Given the description of an element on the screen output the (x, y) to click on. 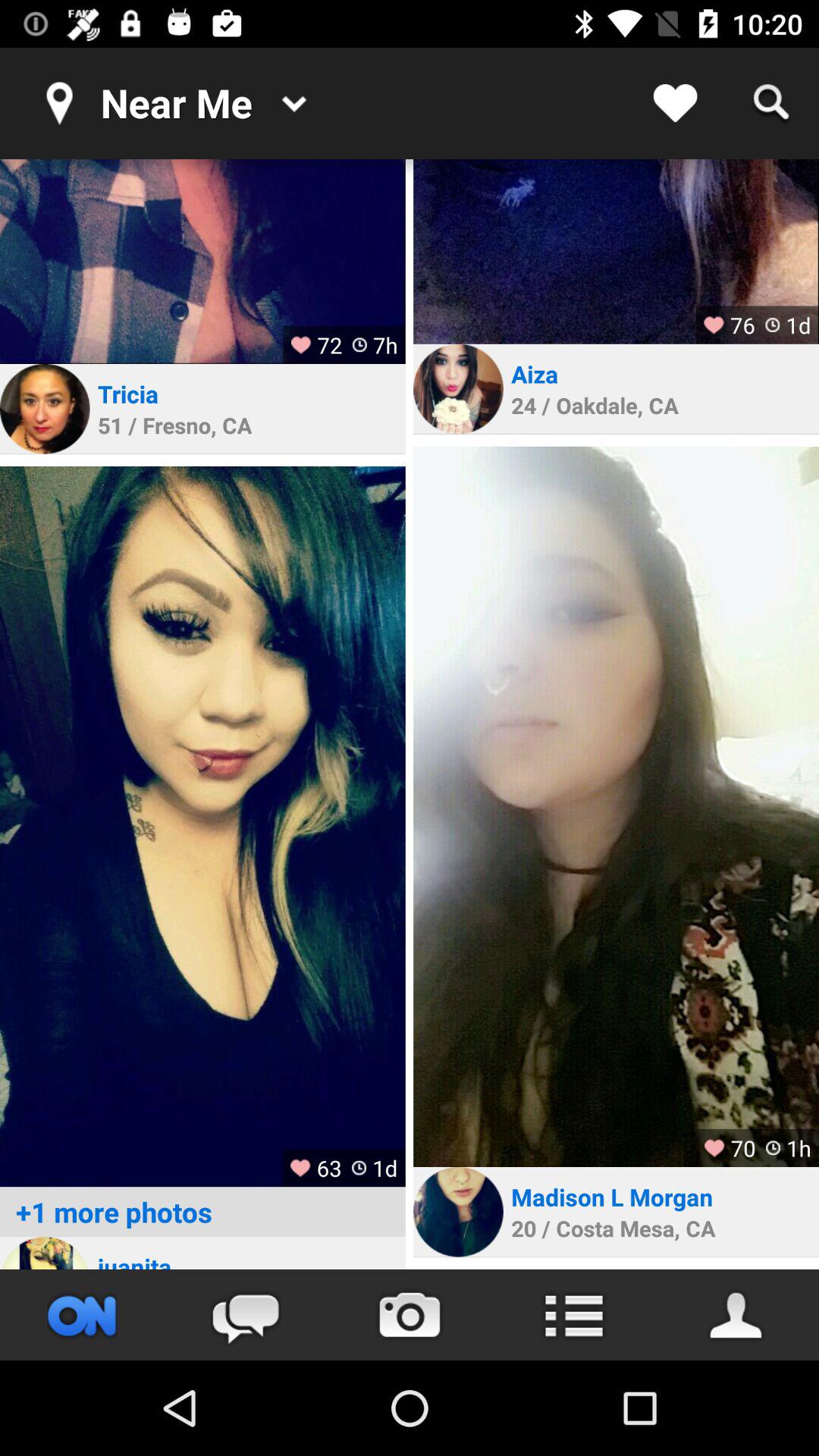
view image in full size (616, 806)
